Given the description of an element on the screen output the (x, y) to click on. 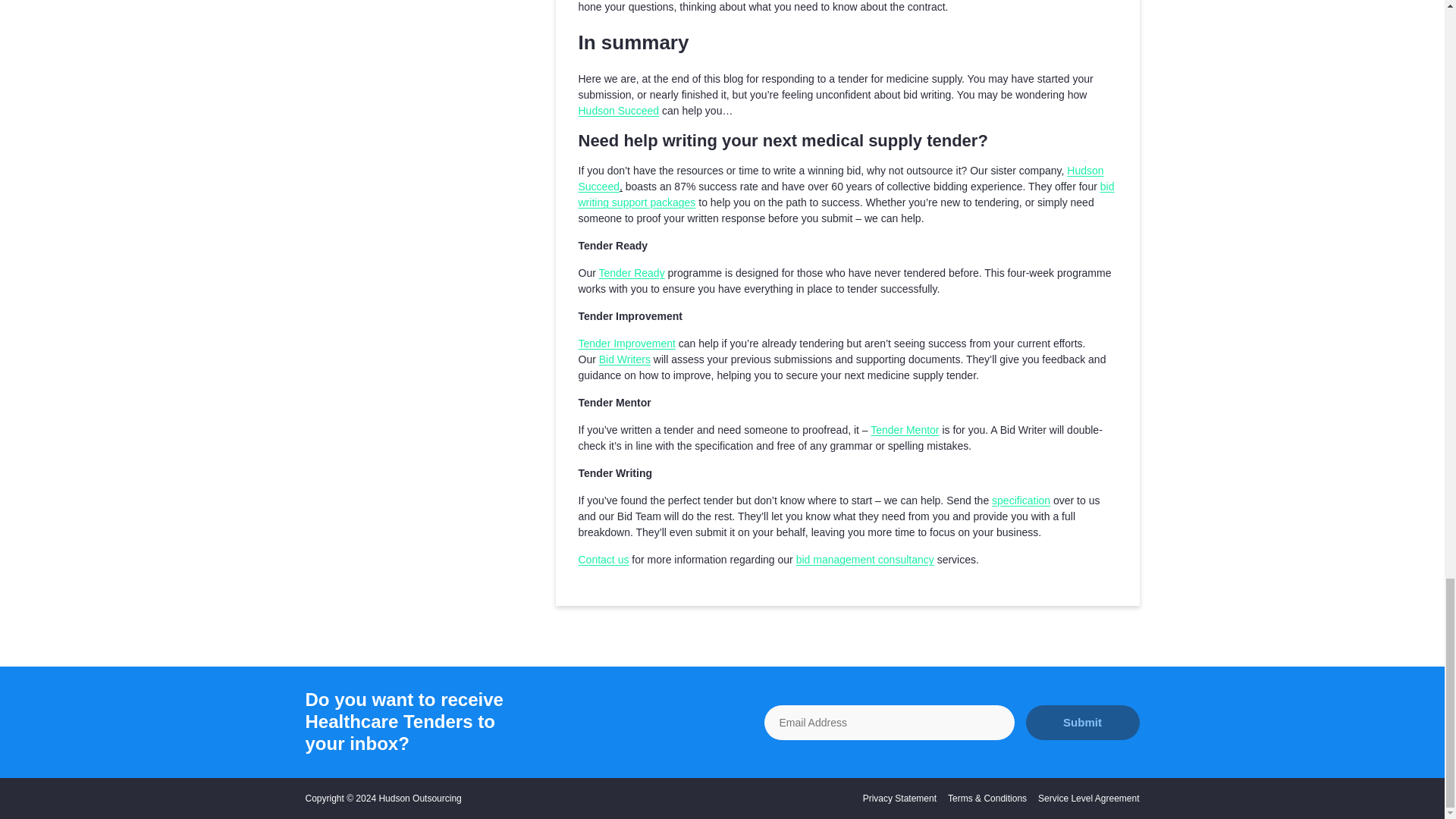
Contact us (603, 559)
Submit (1081, 722)
Hudson Succeed (618, 110)
Tender Mentor (904, 429)
bid management consultancy (865, 559)
specification (1020, 500)
bid writing support packages (845, 194)
Hudson Succeed (840, 178)
Tender Ready (630, 272)
Bid Writers (624, 358)
